Given the description of an element on the screen output the (x, y) to click on. 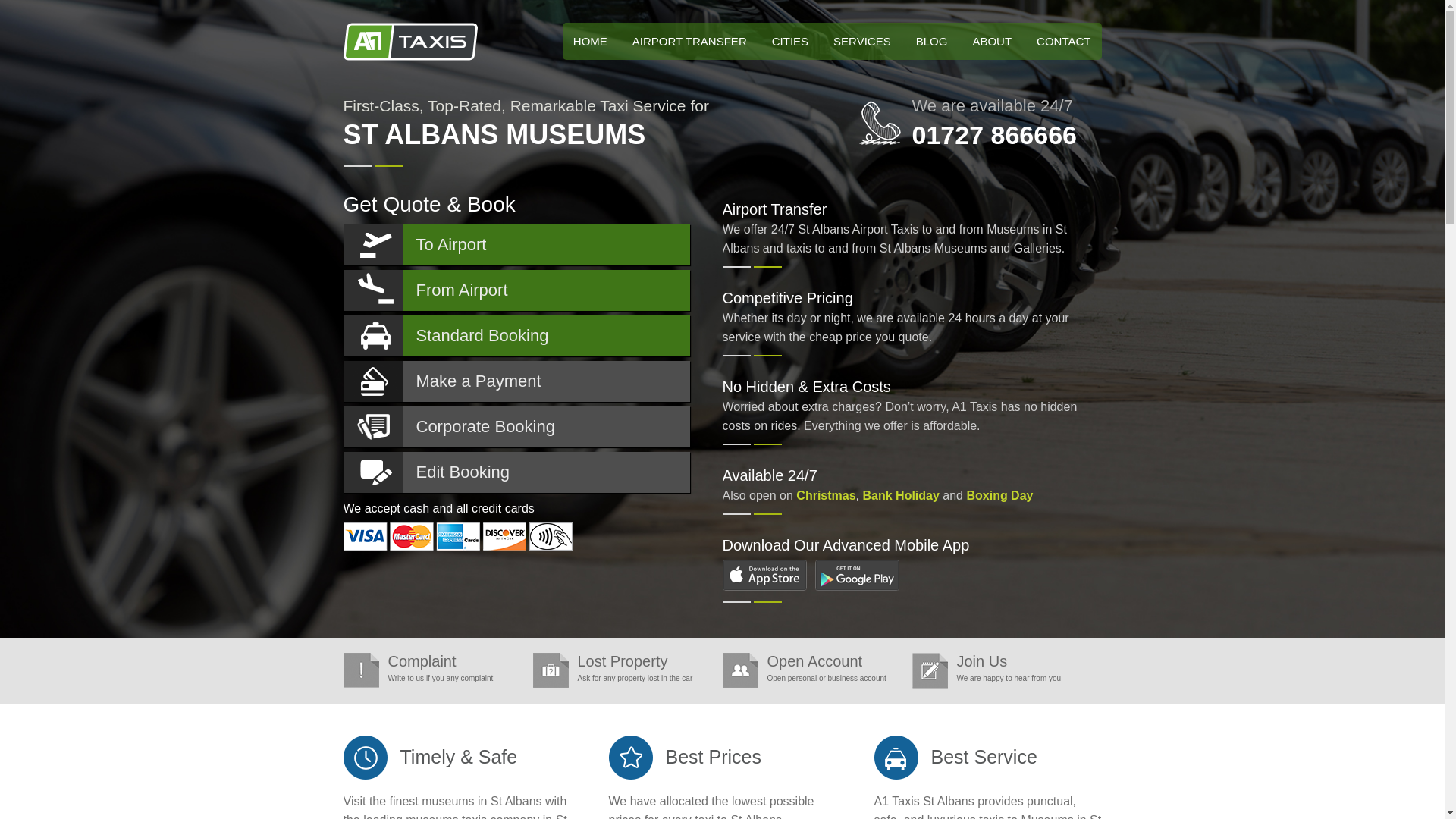
CITIES (789, 40)
AIRPORT TRANSFER (689, 40)
ABOUT (991, 40)
Corporate Booking (515, 426)
01727 866666 (993, 134)
From Airport (515, 290)
BLOG (931, 40)
Standard Booking (515, 335)
Edit Booking (515, 472)
HOME (589, 40)
To Airport (515, 244)
SERVICES (861, 40)
CONTACT (1063, 40)
Make a Payment (515, 381)
